Given the description of an element on the screen output the (x, y) to click on. 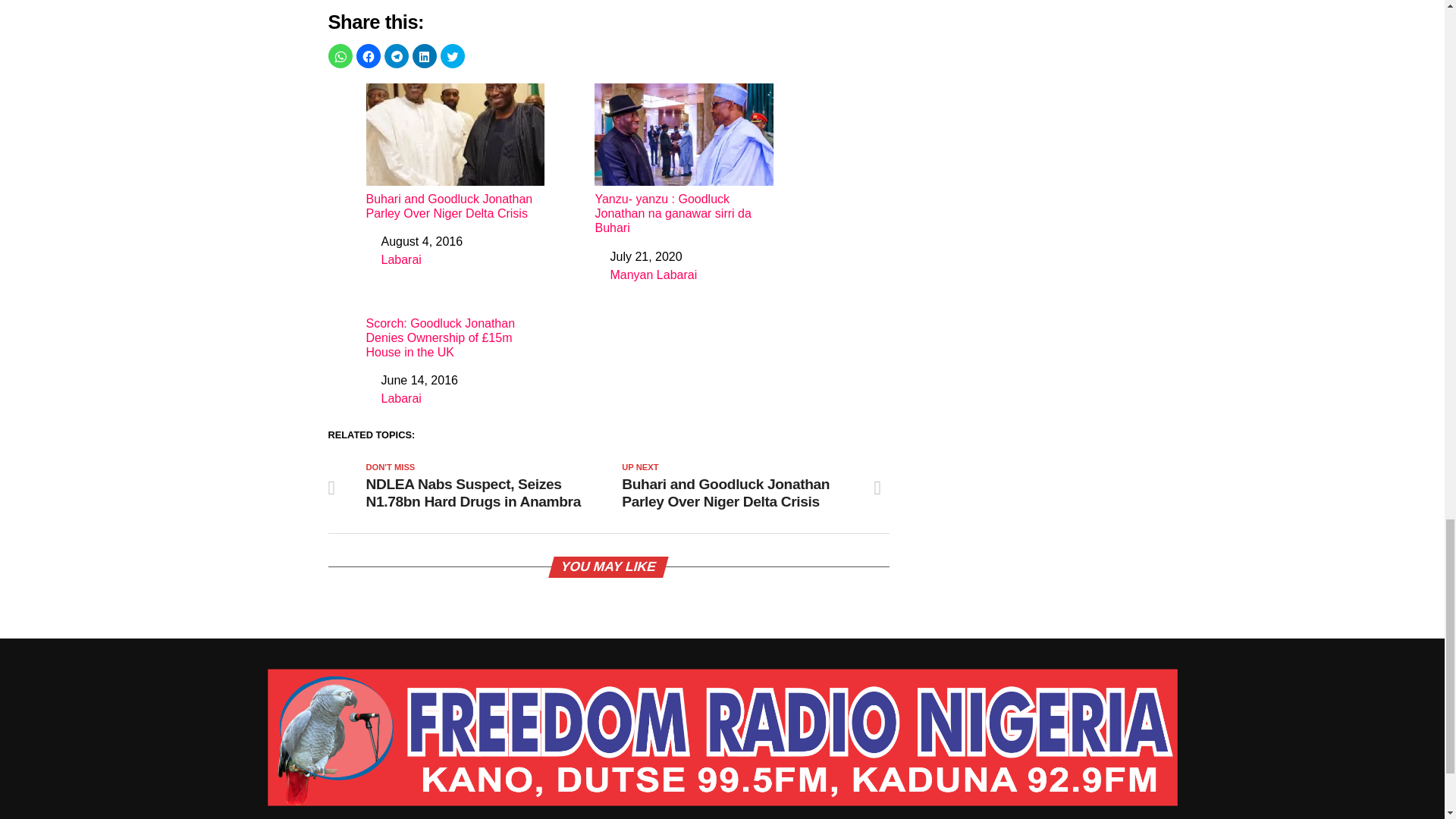
Yanzu- yanzu : Goodluck Jonathan na ganawar sirri da Buhari (683, 159)
Click to share on Facebook (368, 55)
Click to share on WhatsApp (339, 55)
Labarai (400, 259)
Click to share on LinkedIn (424, 55)
Buhari and Goodluck Jonathan Parley Over Niger Delta Crisis (454, 151)
Click to share on Telegram (395, 55)
Click to share on Twitter (451, 55)
